Given the description of an element on the screen output the (x, y) to click on. 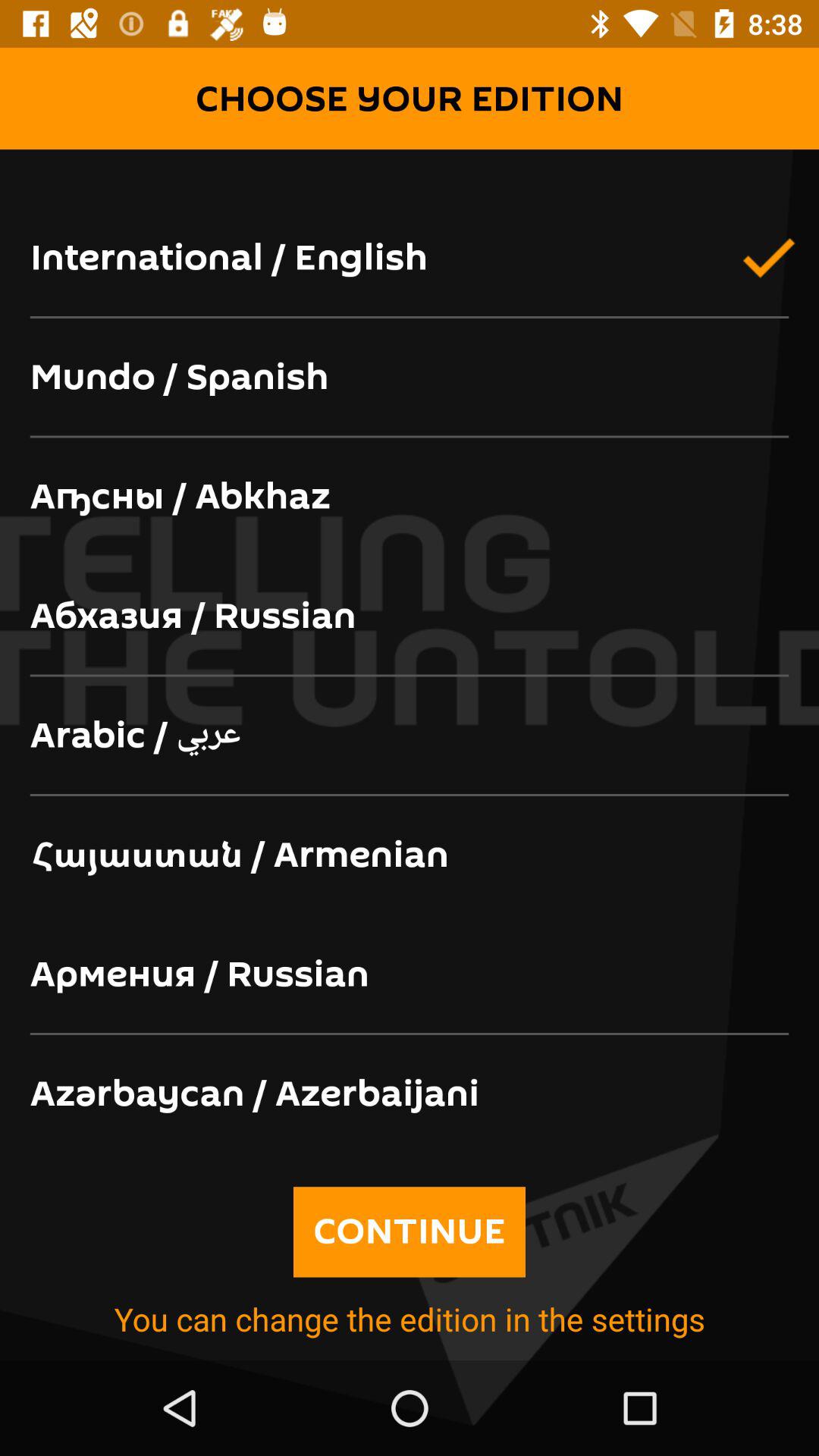
open international / english icon (409, 258)
